Given the description of an element on the screen output the (x, y) to click on. 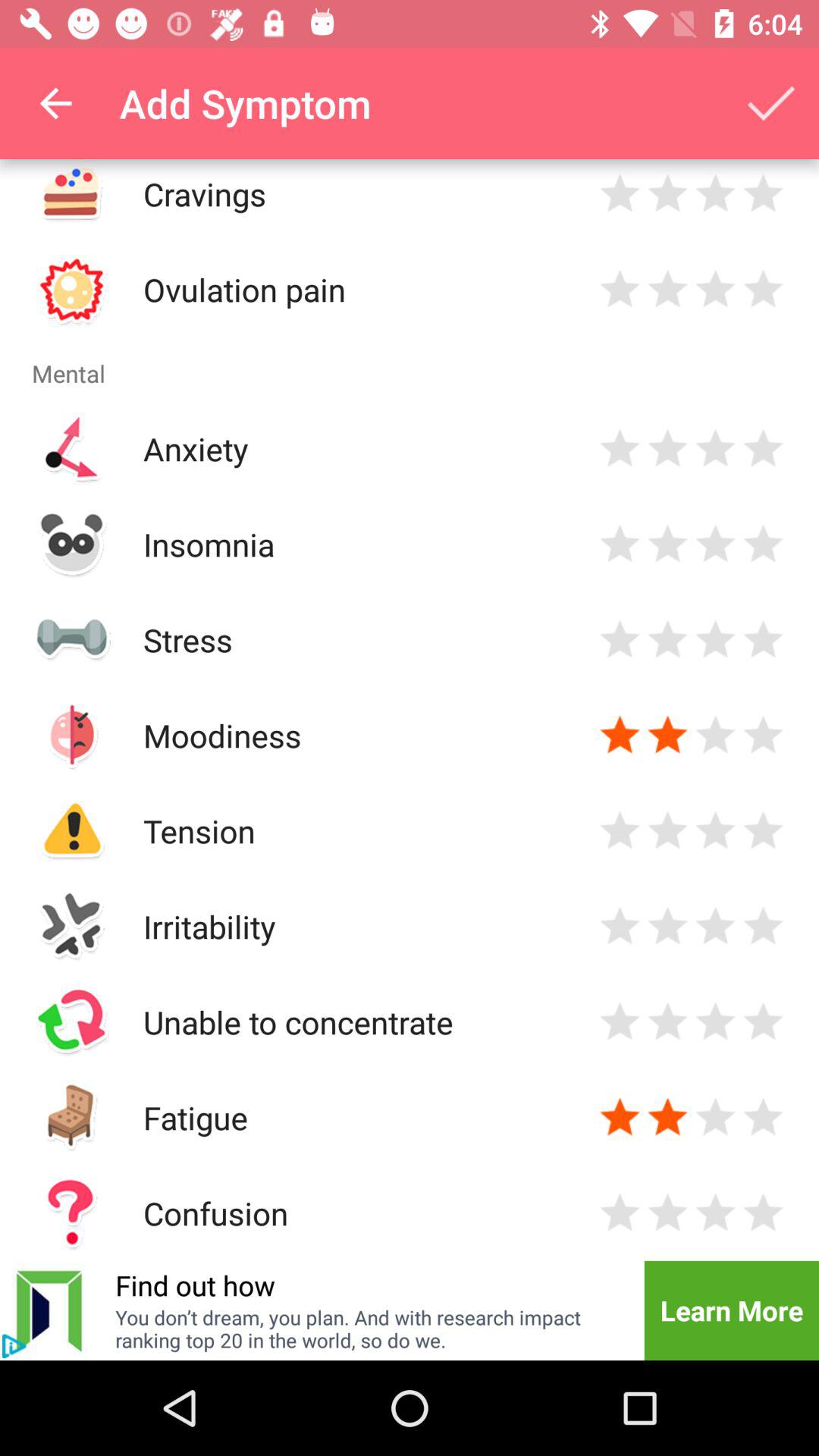
click the info (14, 1346)
